Given the description of an element on the screen output the (x, y) to click on. 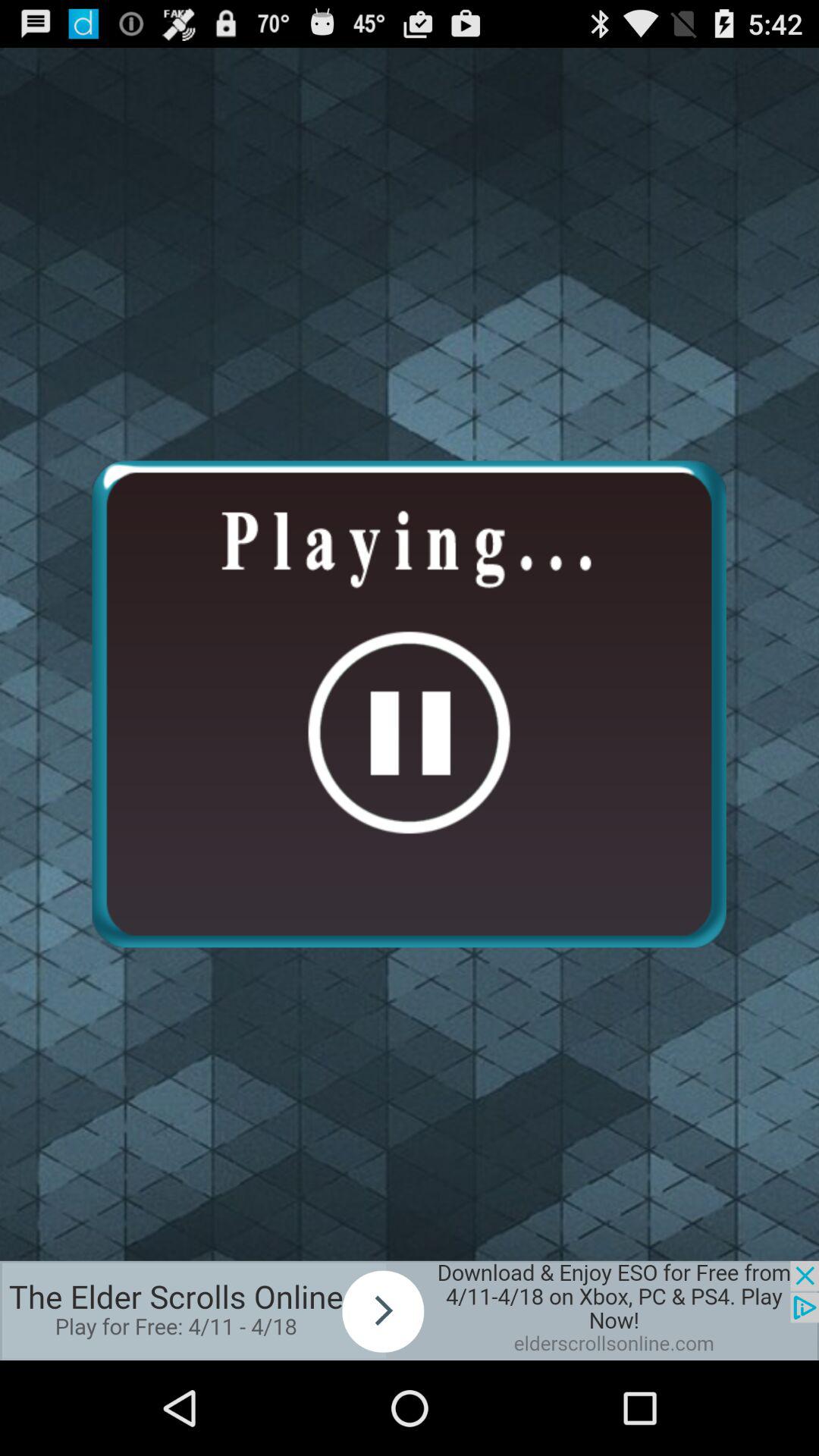
go to advertisement page (409, 1310)
